Given the description of an element on the screen output the (x, y) to click on. 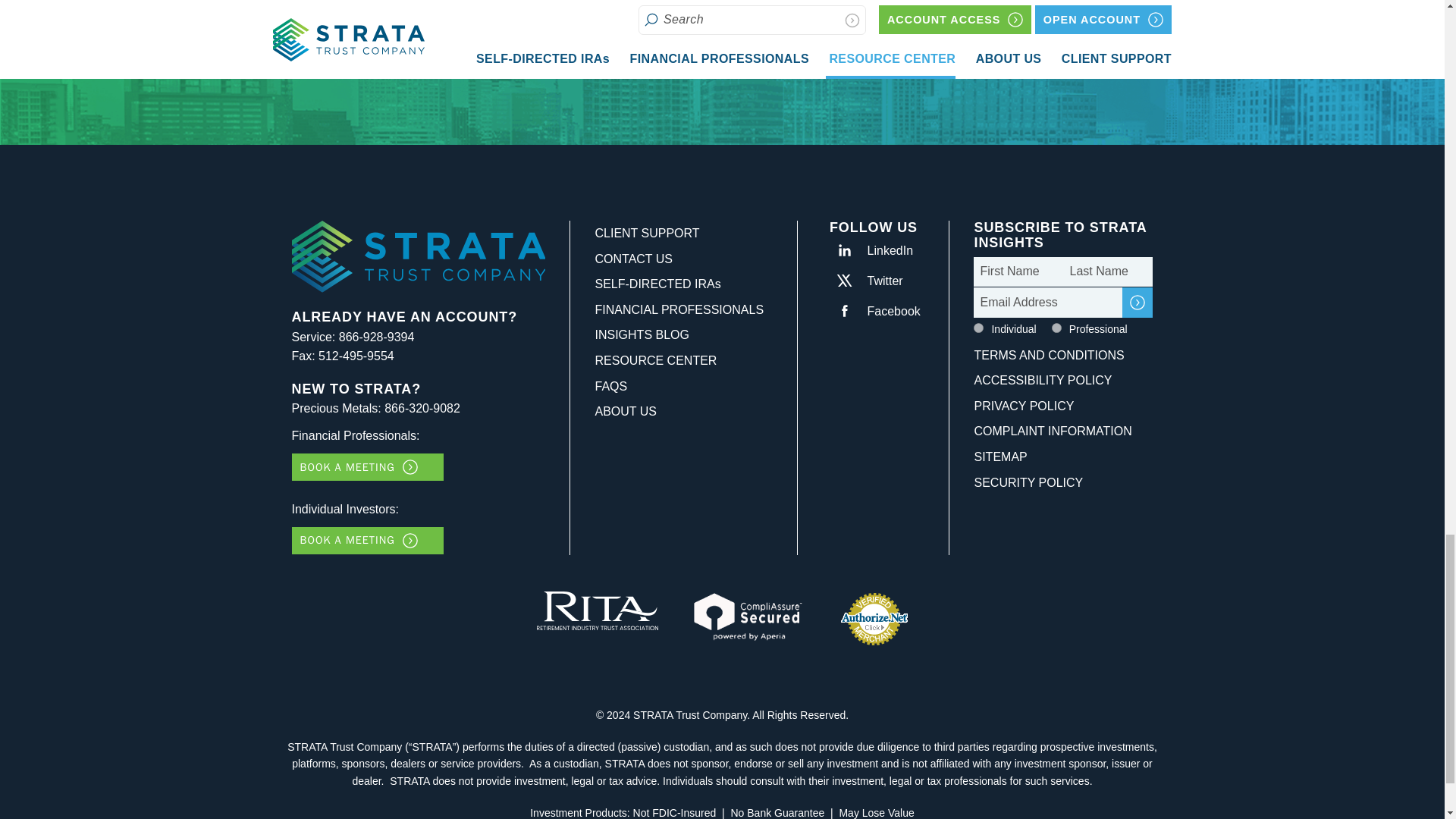
Individual (979, 327)
Submit (1137, 302)
Professional (1056, 327)
